Given the description of an element on the screen output the (x, y) to click on. 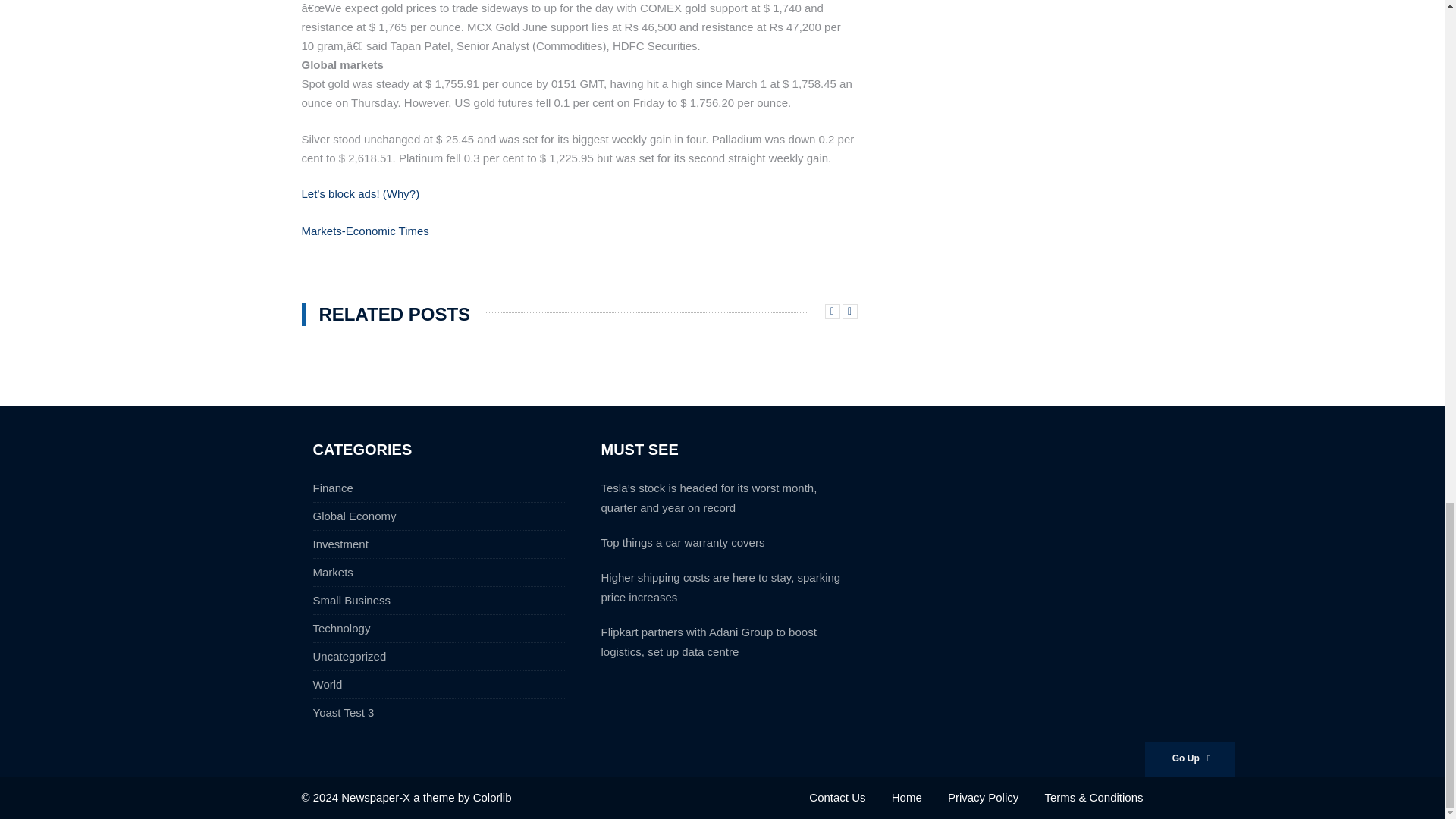
Markets-Economic Times (365, 230)
